Given the description of an element on the screen output the (x, y) to click on. 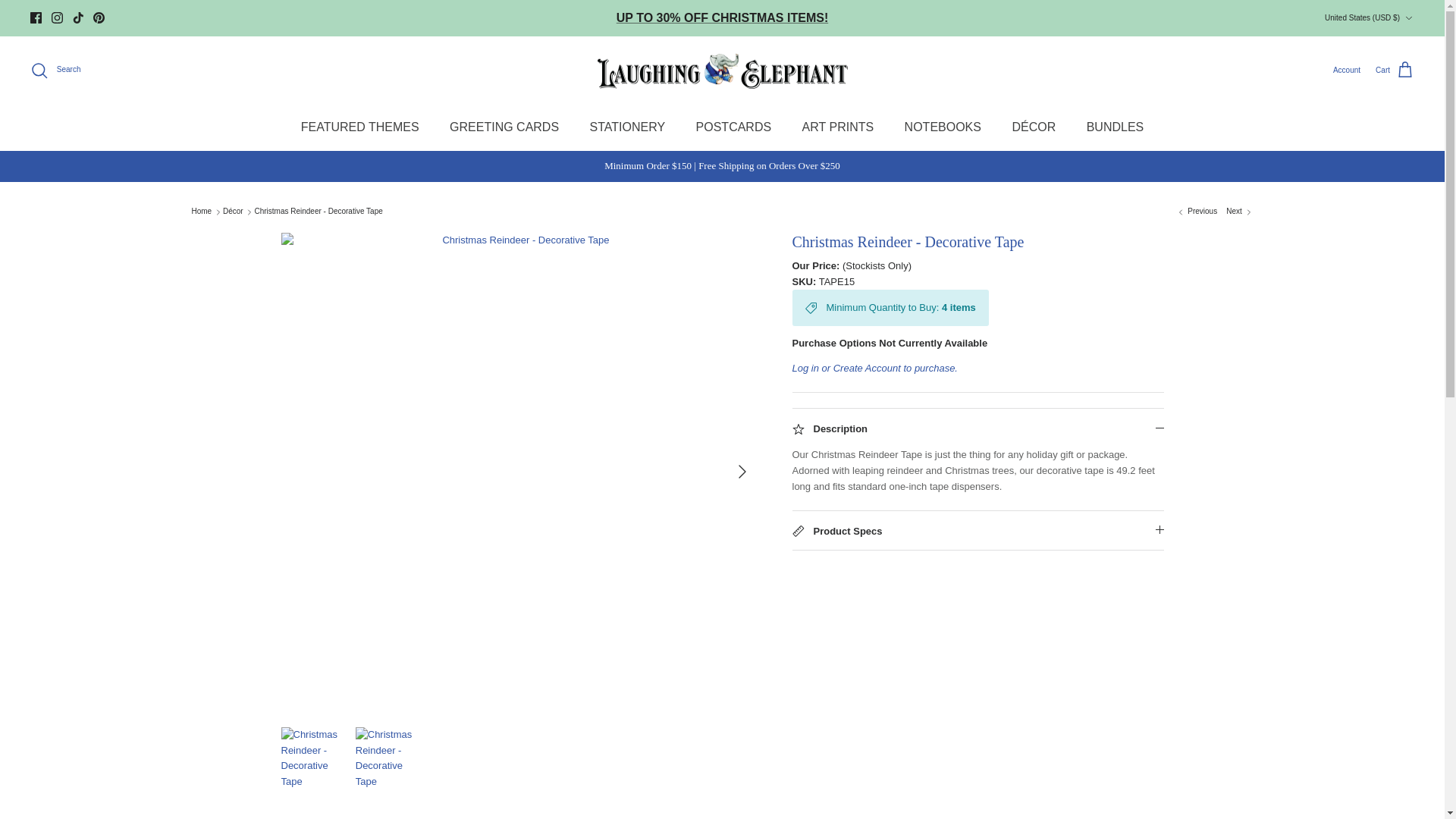
Facebook (36, 17)
Christmas (721, 17)
1950s Cars - Decorative Tape (1196, 211)
Pinterest (98, 17)
Pinterest (98, 17)
Facebook (36, 17)
RIGHT (741, 471)
Instagram (56, 17)
Laughing Elephant Wholesale (721, 70)
Farmers' Market - Decorative Tape (1238, 211)
Down (1408, 18)
Instagram (56, 17)
